Given the description of an element on the screen output the (x, y) to click on. 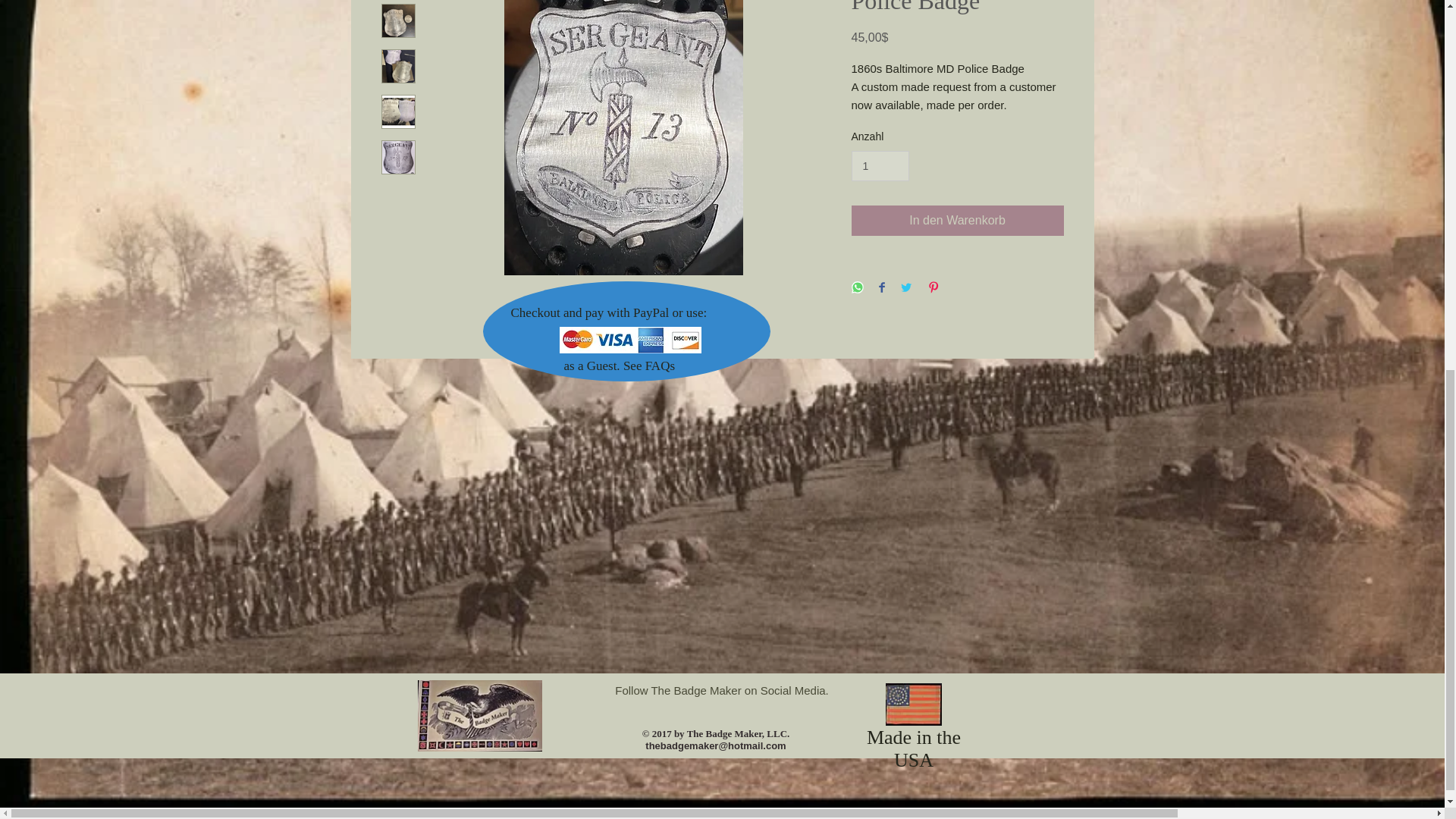
1 (879, 165)
